Given the description of an element on the screen output the (x, y) to click on. 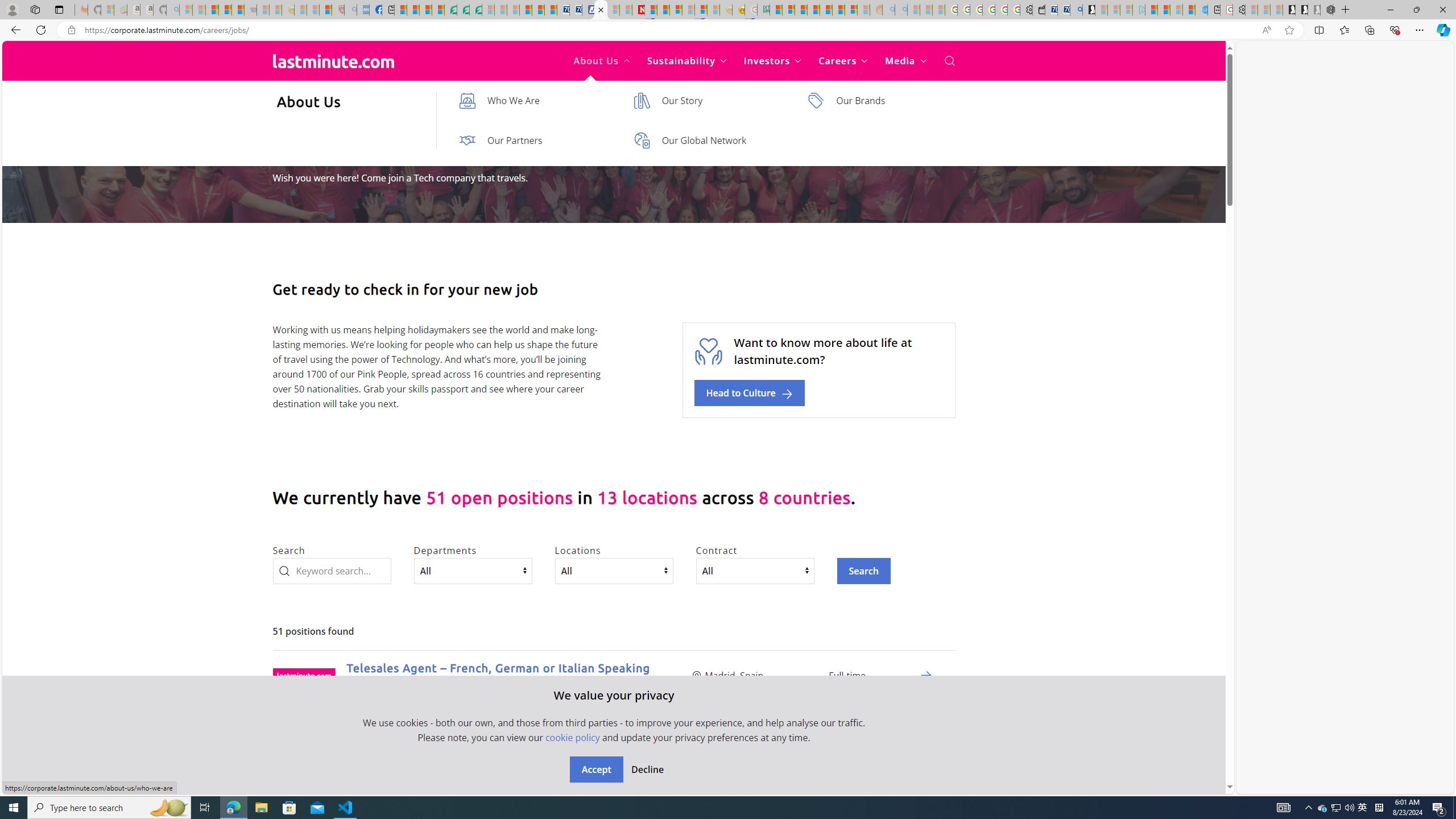
Our Global Network (708, 140)
Microsoft Start Gaming (1088, 9)
Utah sues federal government - Search - Sleeping (900, 9)
cookie policy (571, 737)
list of asthma inhalers uk - Search - Sleeping (350, 9)
